Given the description of an element on the screen output the (x, y) to click on. 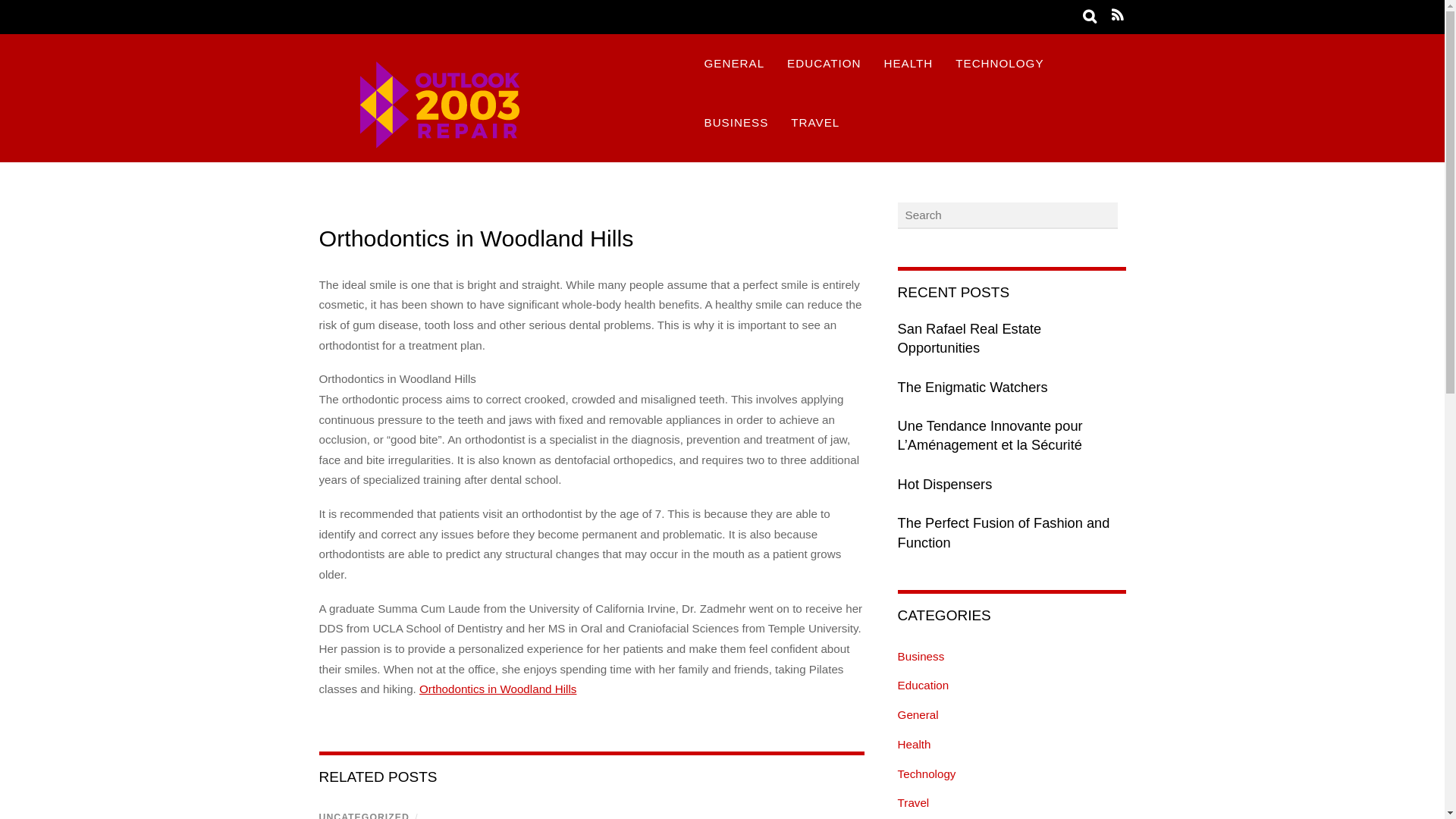
General (918, 714)
UNCATEGORIZED (363, 815)
Hot Dispensers (1011, 484)
Travel (914, 802)
Education (923, 684)
HEALTH (907, 64)
GENERAL (734, 64)
The Enigmatic Watchers (1011, 387)
TRAVEL (814, 123)
EDUCATION (824, 64)
Health (914, 744)
Orthodontics in Woodland Hills (475, 237)
San Rafael Real Estate Opportunities (1011, 338)
New 25 logo-33 (497, 103)
Outlook2003 Repair (497, 150)
